Given the description of an element on the screen output the (x, y) to click on. 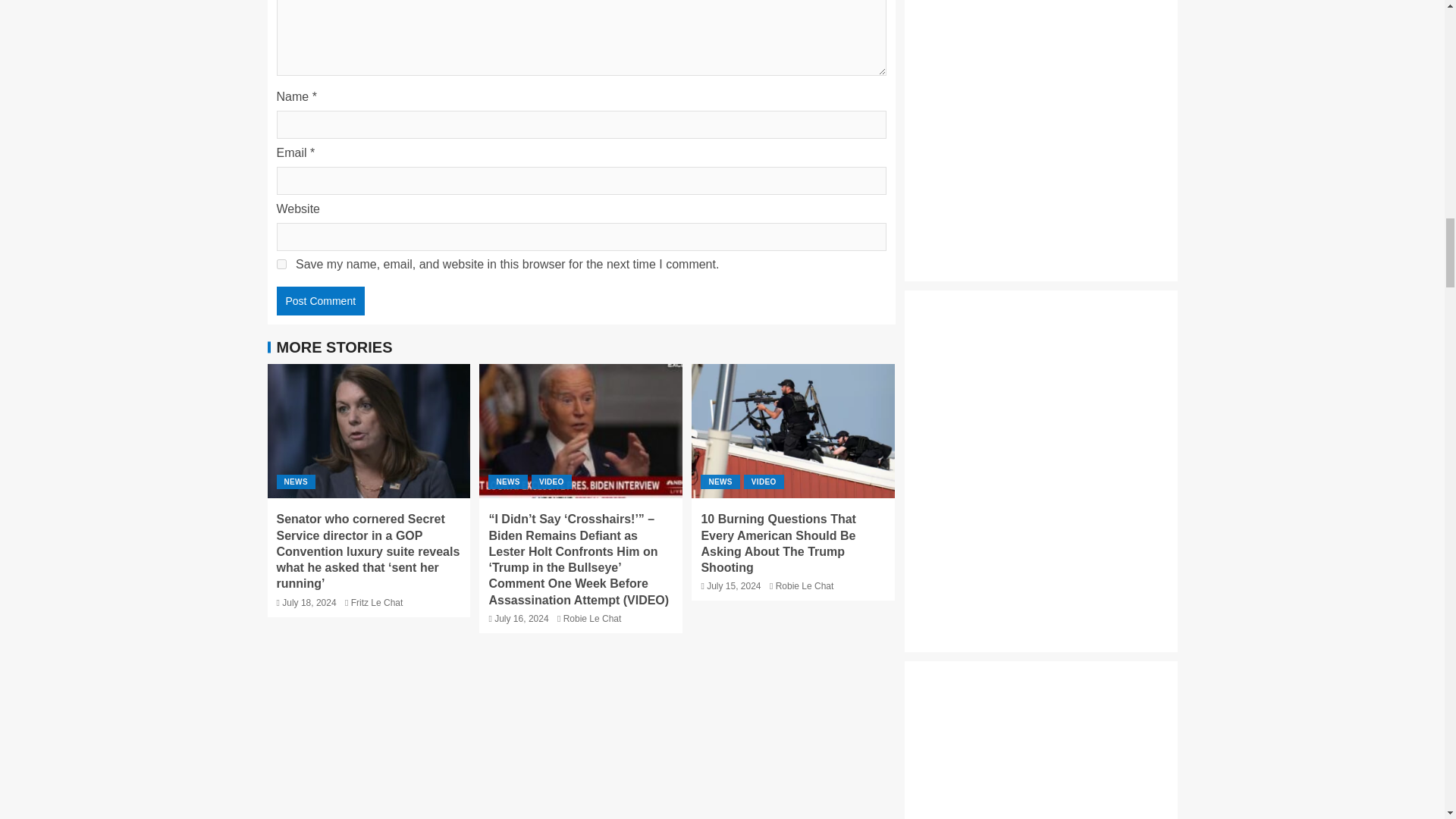
yes (280, 264)
Post Comment (320, 300)
